Given the description of an element on the screen output the (x, y) to click on. 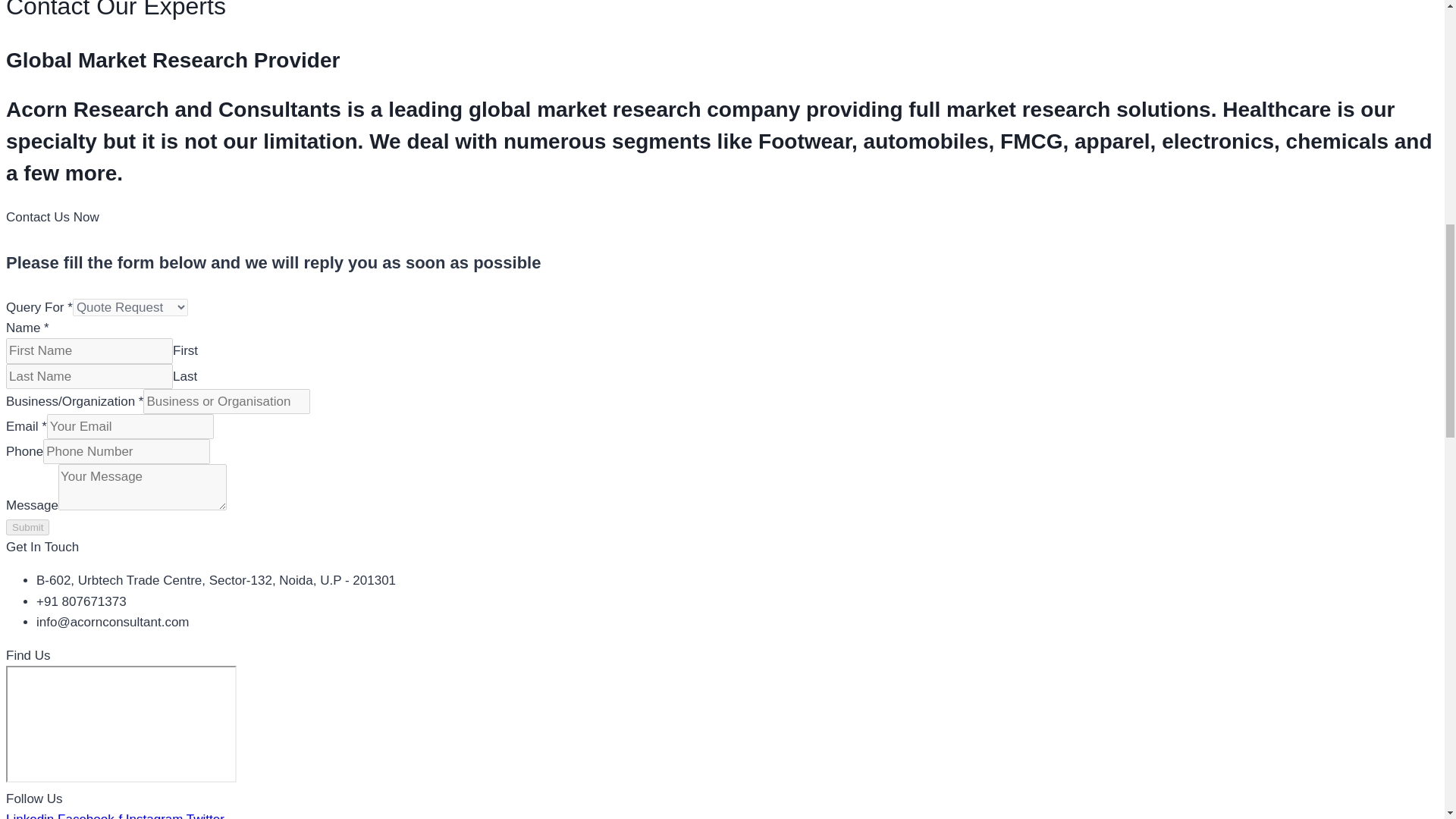
Facebook-f (91, 815)
Instagram (155, 815)
Submit (27, 527)
Urbtech Trade Centre, Noida (120, 723)
Linkedin (31, 815)
Twitter (205, 815)
